Given the description of an element on the screen output the (x, y) to click on. 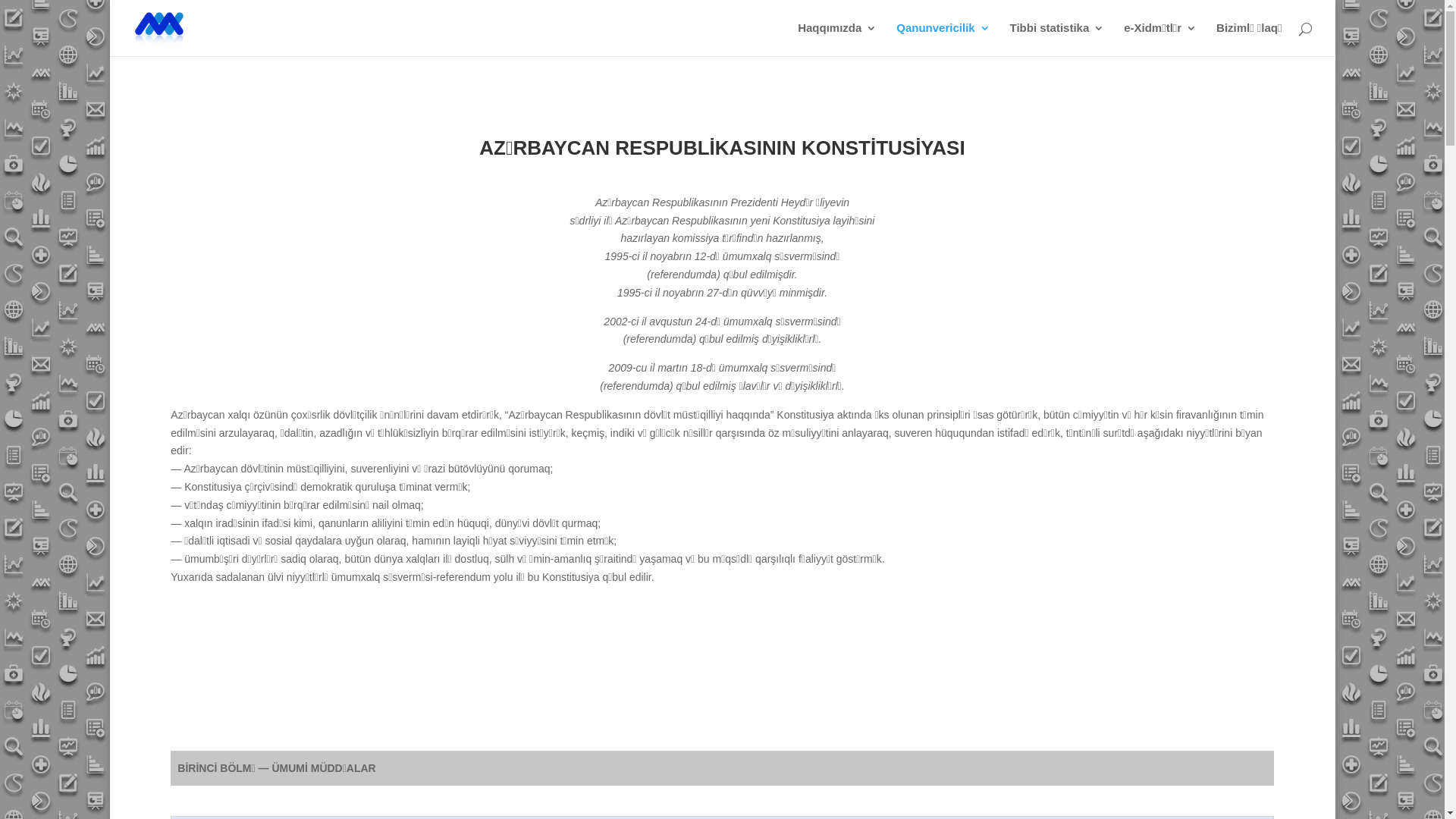
Qanunvericilik Element type: text (942, 39)
Tibbi statistika Element type: text (1057, 39)
